Given the description of an element on the screen output the (x, y) to click on. 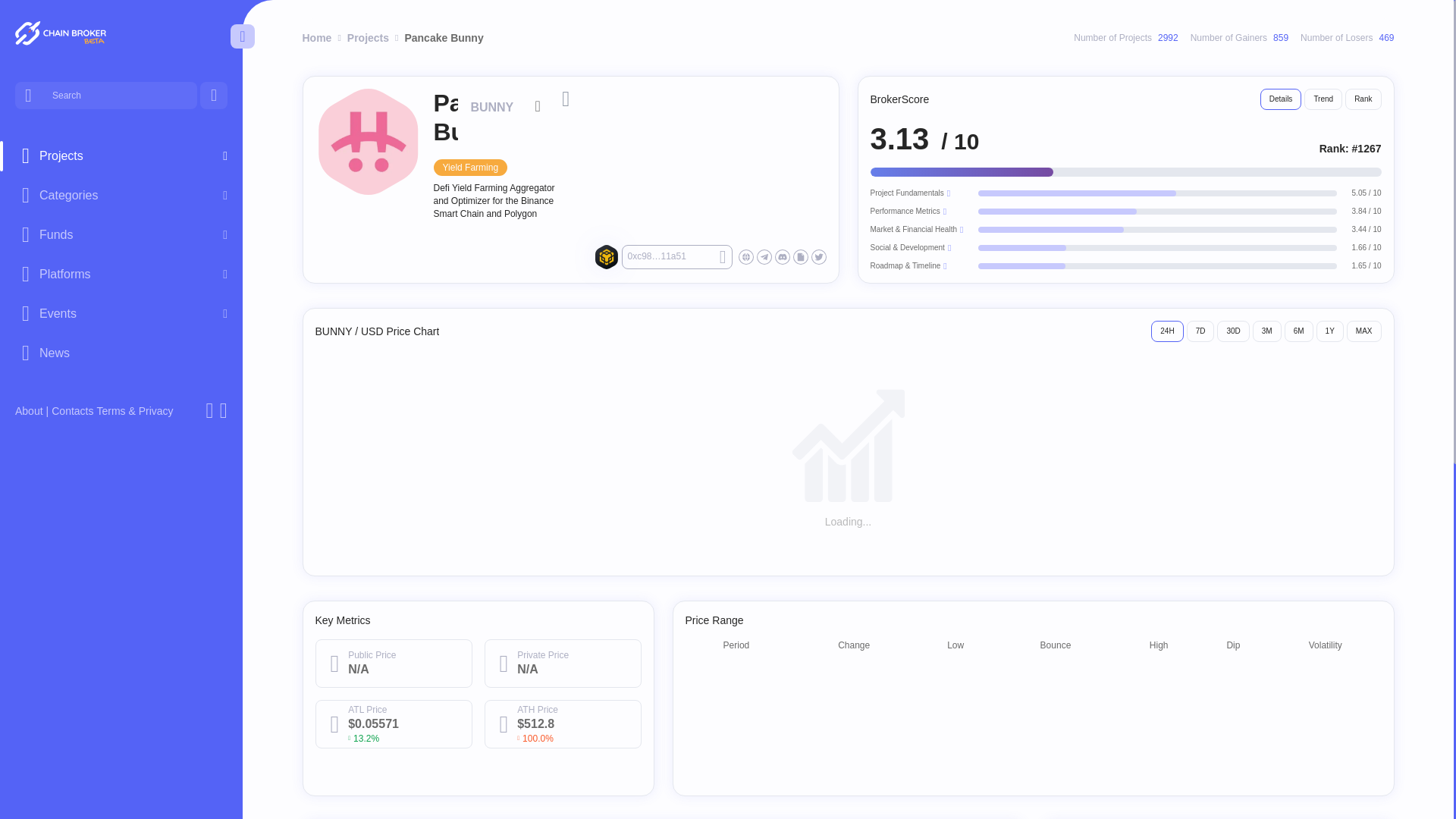
Funds (120, 234)
Events (120, 313)
News (120, 353)
Projects (120, 156)
BNB Chain Logo (606, 256)
Pancake Bunny (368, 141)
Platforms (120, 274)
Categories (120, 195)
